Given the description of an element on the screen output the (x, y) to click on. 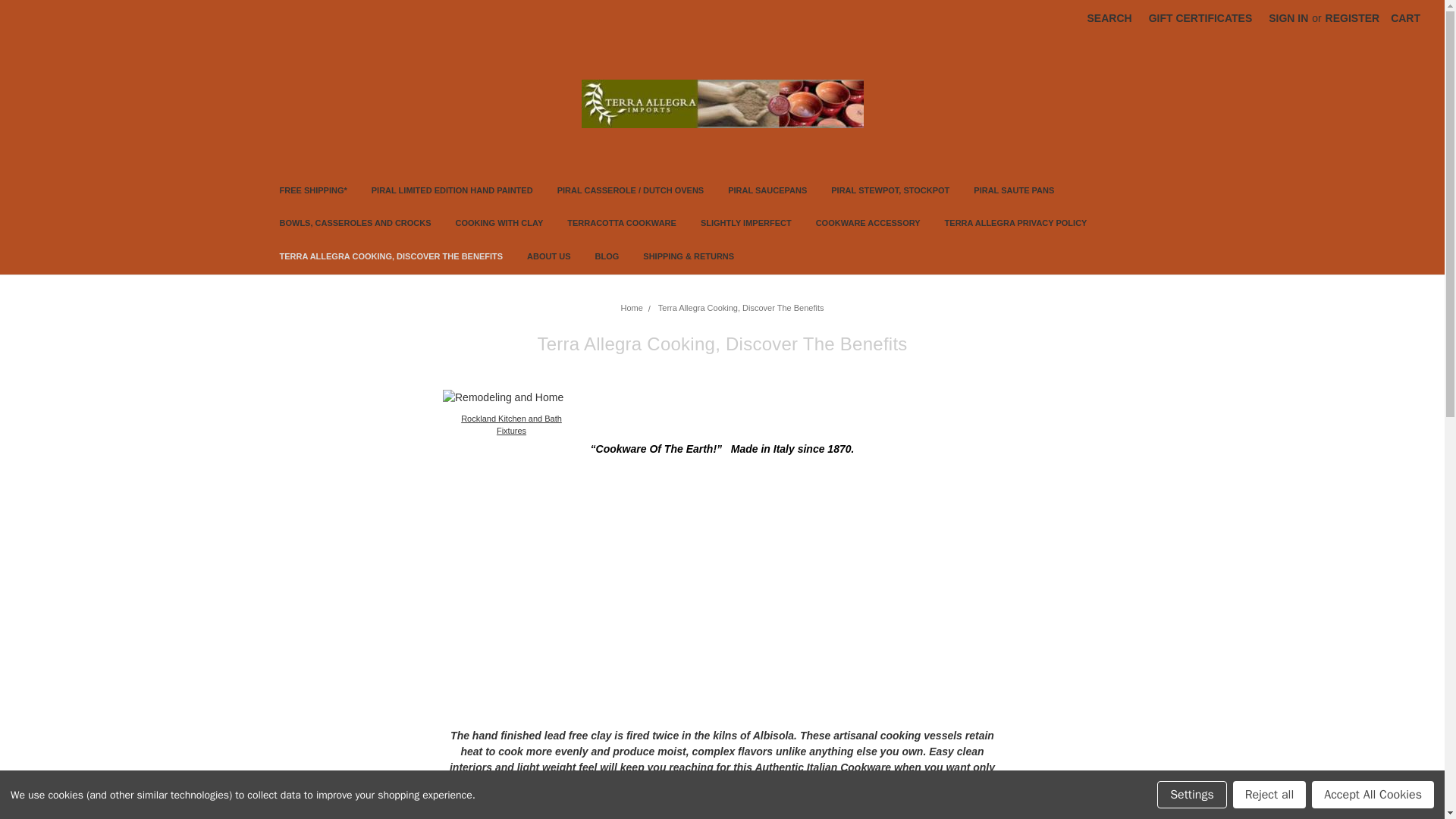
GIFT CERTIFICATES (1200, 18)
TERRA ALLEGRA COOKING, DISCOVER THE BENEFITS (390, 257)
ABOUT US (548, 257)
PIRAL SAUTE PANS (1012, 192)
BLOG (607, 257)
BOWLS, CASSEROLES AND CROCKS (354, 224)
Rockland Kitchen and Bath Fixtures (511, 424)
REGISTER (1353, 18)
SLIGHTLY IMPERFECT (745, 224)
Home (632, 307)
COOKING WITH CLAY (500, 224)
PIRAL STEWPOT, STOCKPOT (889, 192)
SIGN IN (1288, 18)
PIRAL SAUCEPANS (767, 192)
TERRACOTTA COOKWARE (621, 224)
